Given the description of an element on the screen output the (x, y) to click on. 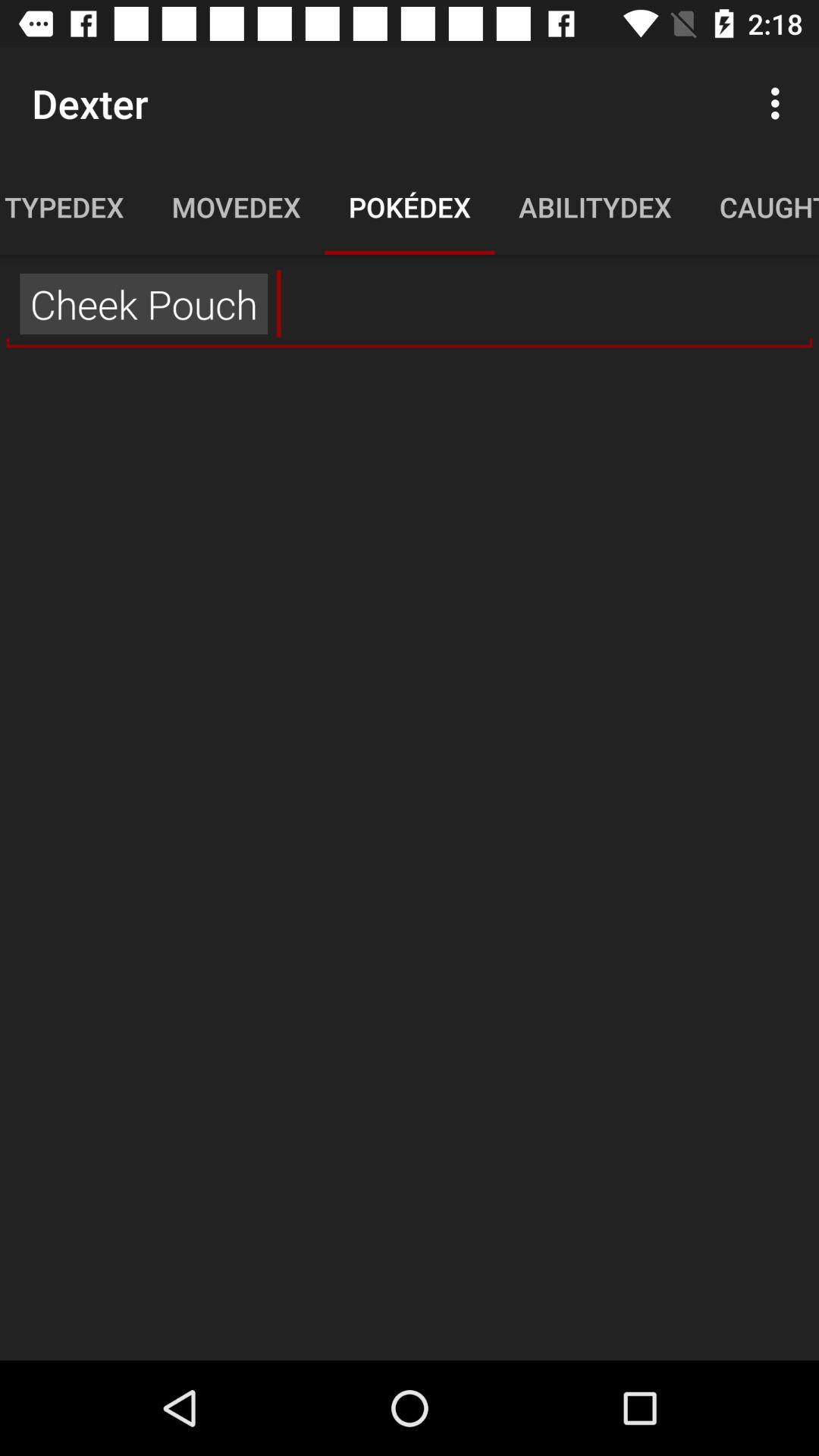
turn on the icon below the ,,  item (409, 857)
